Given the description of an element on the screen output the (x, y) to click on. 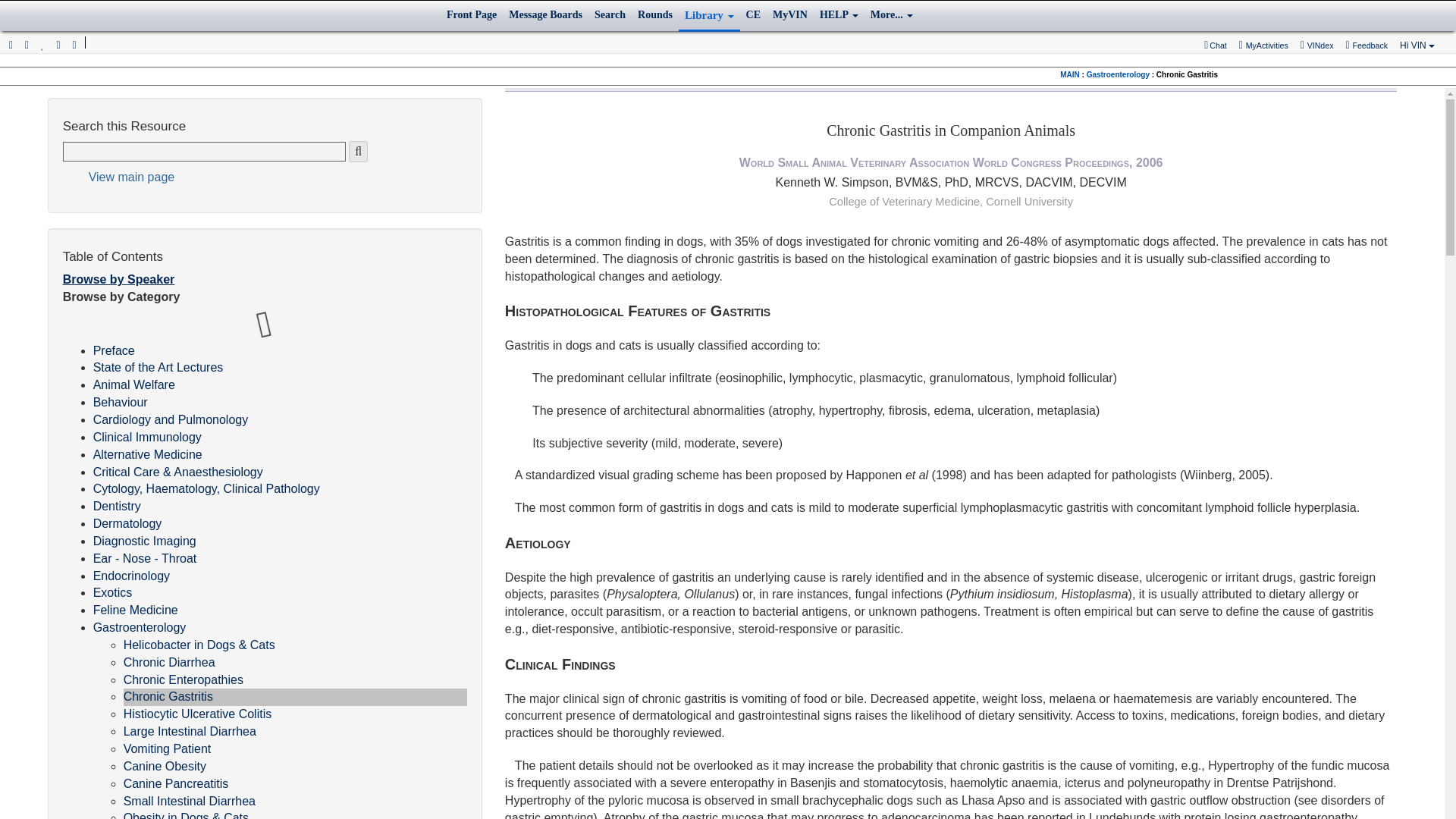
Library (708, 15)
Search (609, 14)
Feedback (1365, 44)
Message Boards (545, 14)
Front Page (471, 14)
VINDEX (1317, 44)
VIN Chat (1215, 45)
Rounds (654, 14)
My Activities (1263, 45)
